Given the description of an element on the screen output the (x, y) to click on. 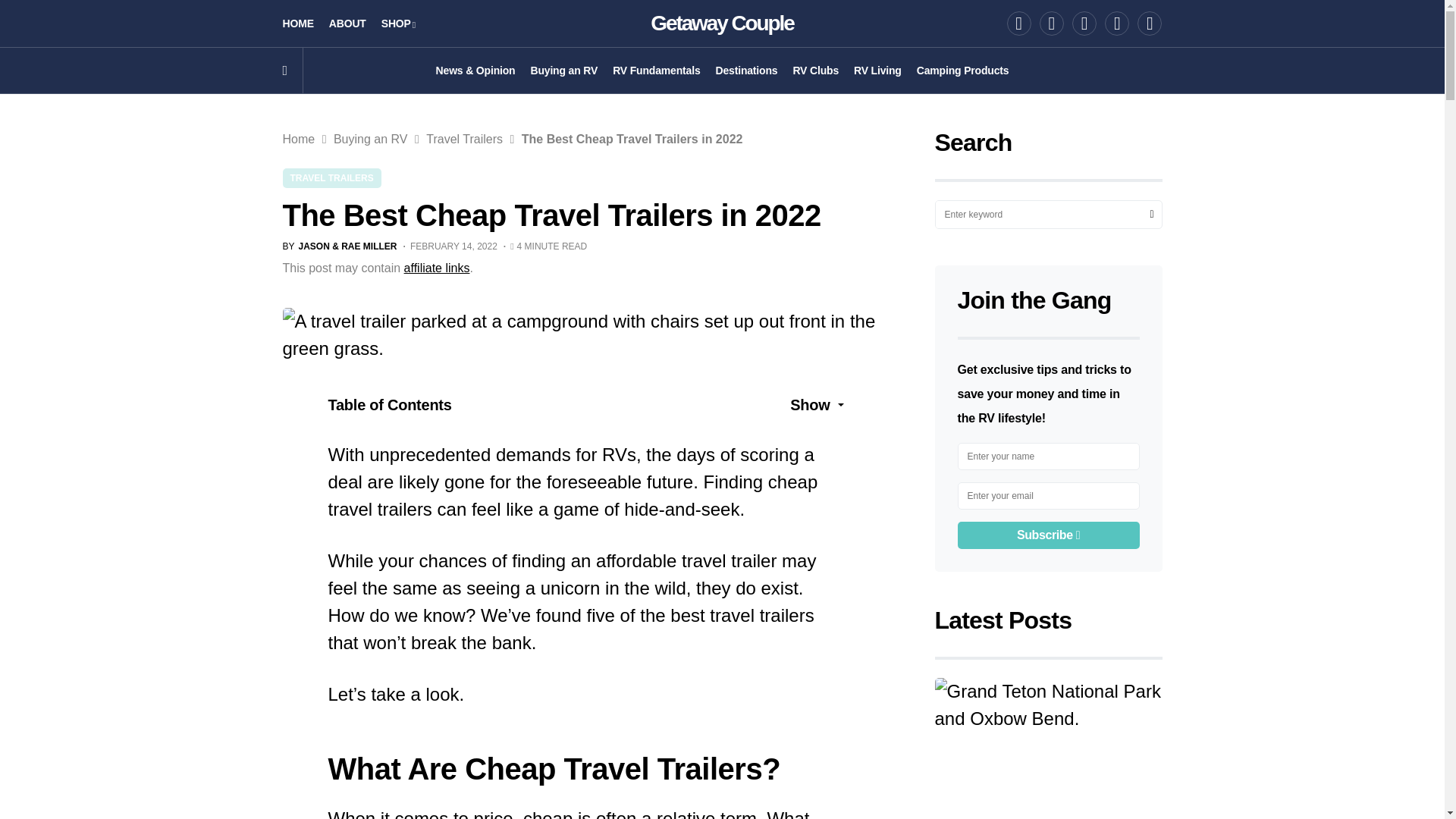
RV Fundamentals (656, 70)
Home (298, 138)
Getaway Couple (721, 23)
Buying an RV (562, 70)
RV Clubs (815, 70)
Camping Products (963, 70)
RV Living (877, 70)
Destinations (746, 70)
